Given the description of an element on the screen output the (x, y) to click on. 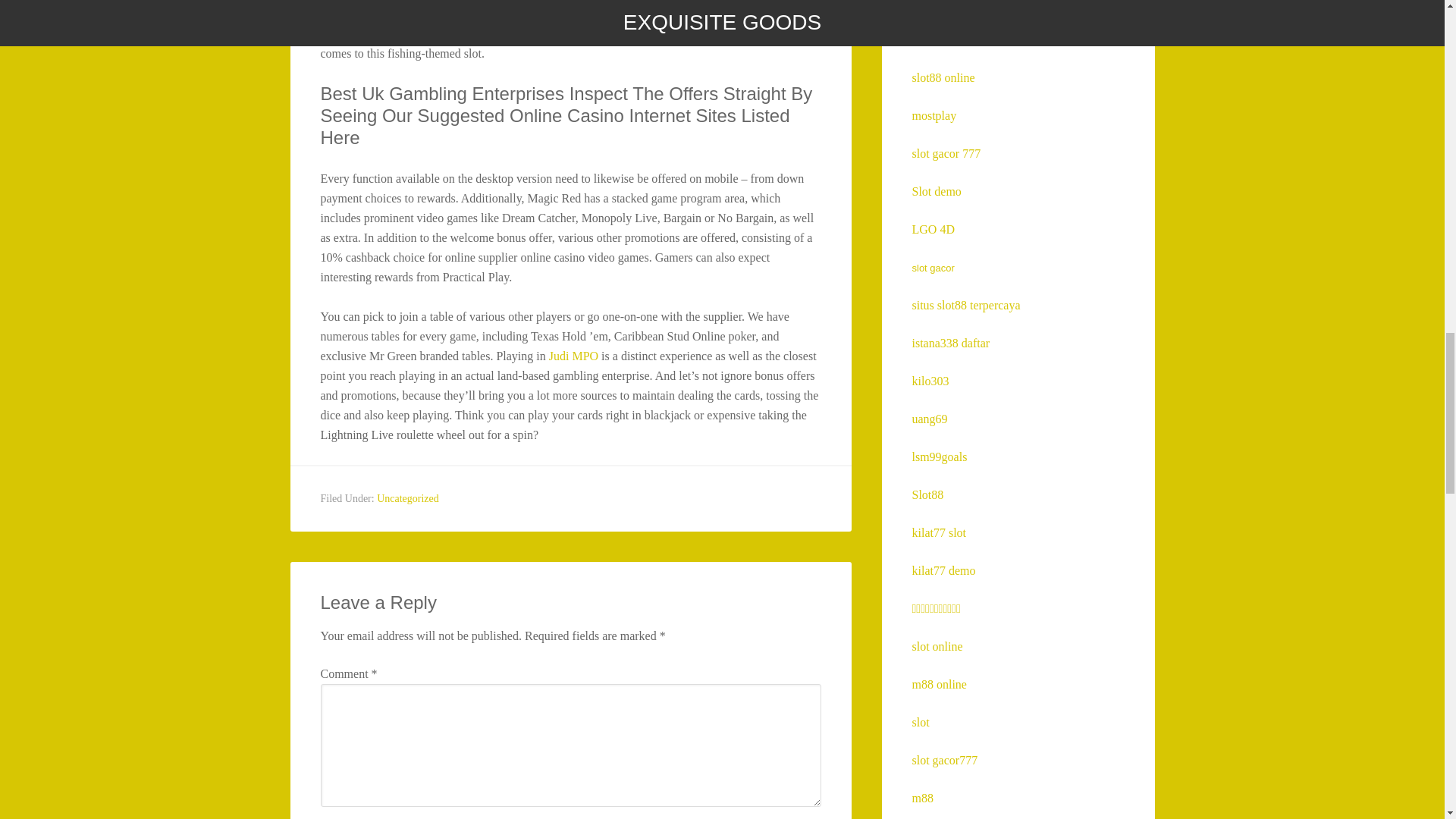
Judi MPO (573, 355)
Uncategorized (408, 498)
m88 online (938, 684)
